Given the description of an element on the screen output the (x, y) to click on. 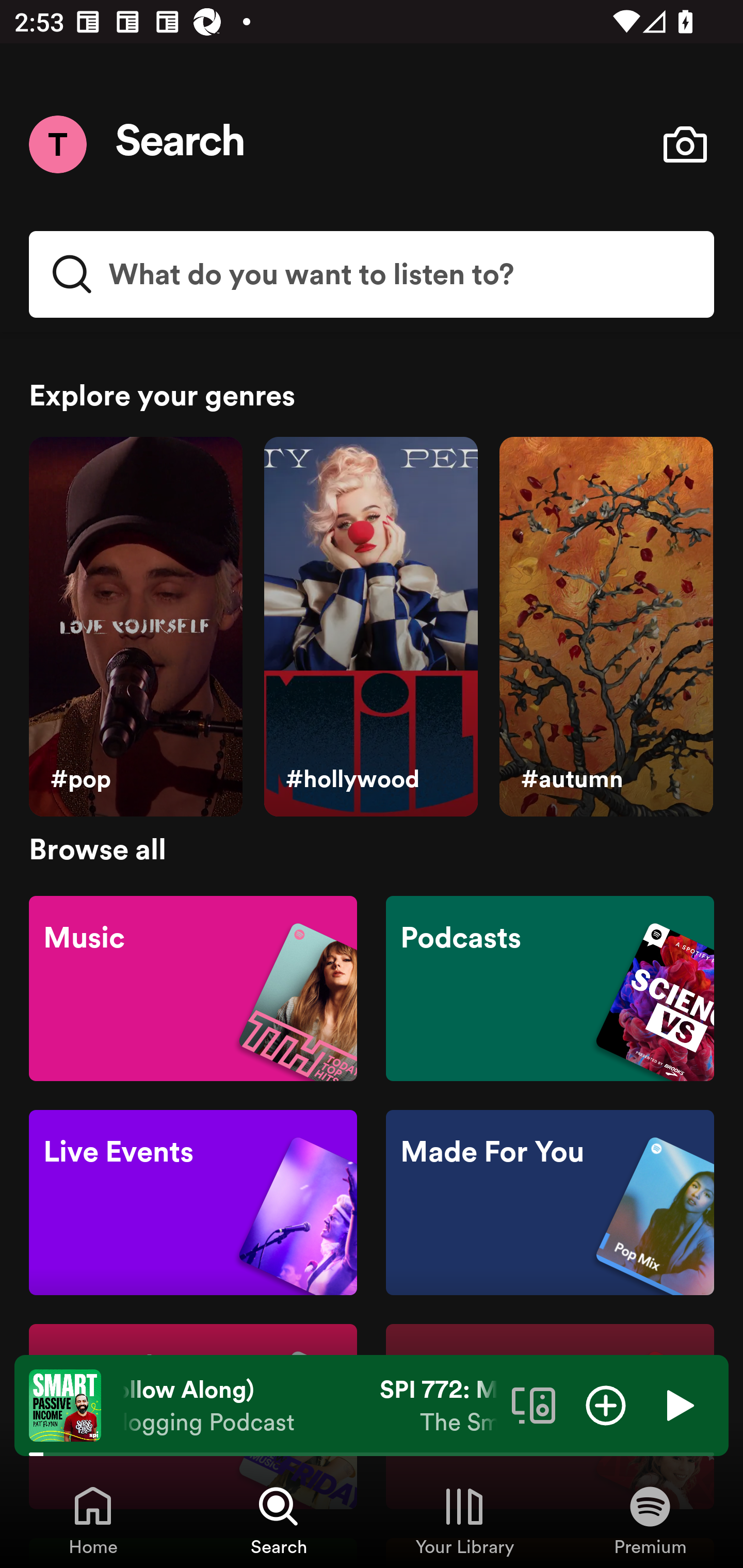
Menu (57, 144)
Open camera (685, 145)
Search (180, 144)
#pop (135, 626)
#hollywood (370, 626)
#autumn (606, 626)
Music (192, 987)
Podcasts (549, 987)
Live Events (192, 1202)
Made For You (549, 1202)
The cover art of the currently playing track (64, 1404)
Connect to a device. Opens the devices menu (533, 1404)
Add item (605, 1404)
Play (677, 1404)
Home, Tab 1 of 4 Home Home (92, 1519)
Search, Tab 2 of 4 Search Search (278, 1519)
Your Library, Tab 3 of 4 Your Library Your Library (464, 1519)
Premium, Tab 4 of 4 Premium Premium (650, 1519)
